Given the description of an element on the screen output the (x, y) to click on. 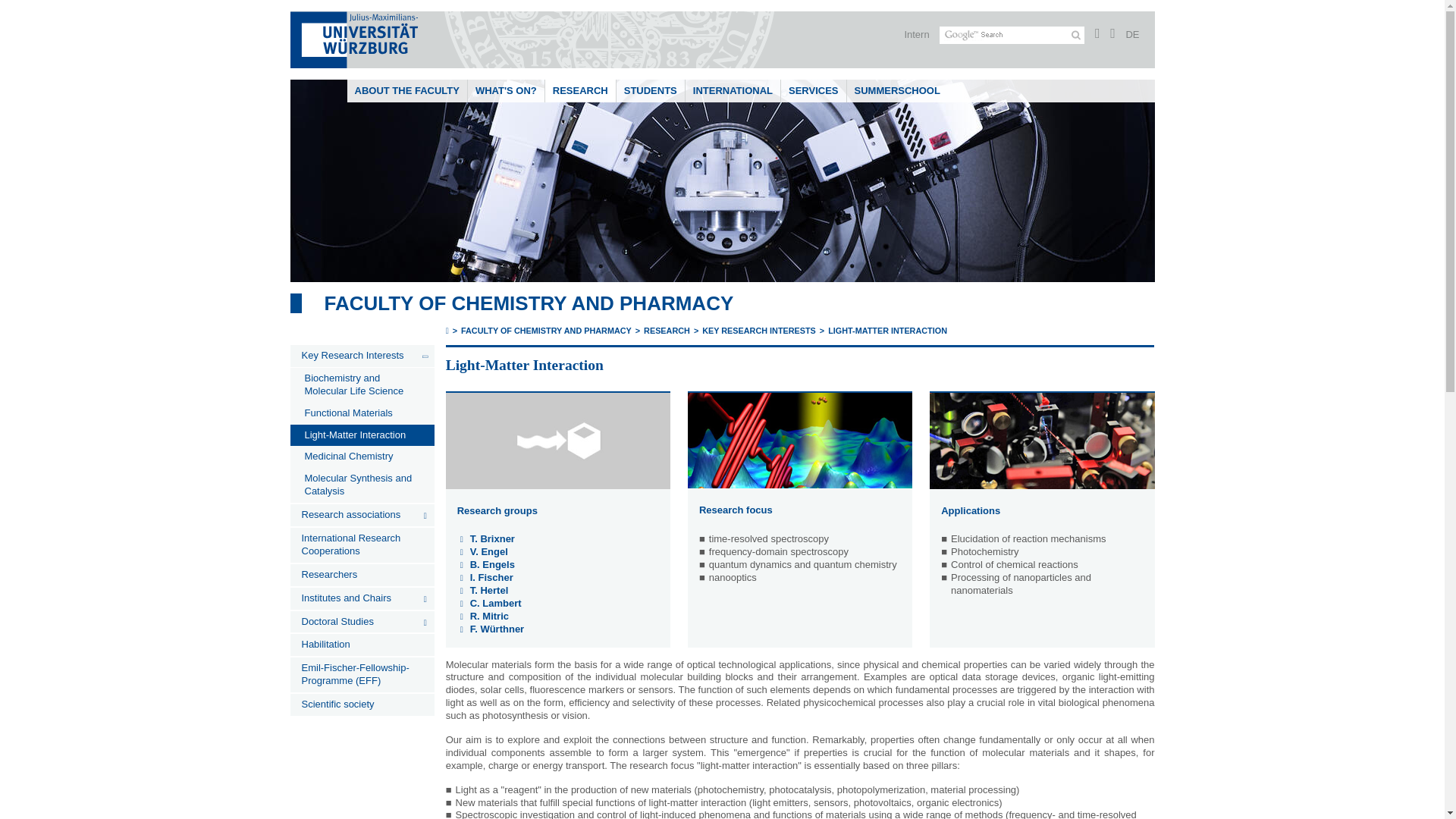
Submit search (1075, 34)
Submit search (1075, 34)
